Given the description of an element on the screen output the (x, y) to click on. 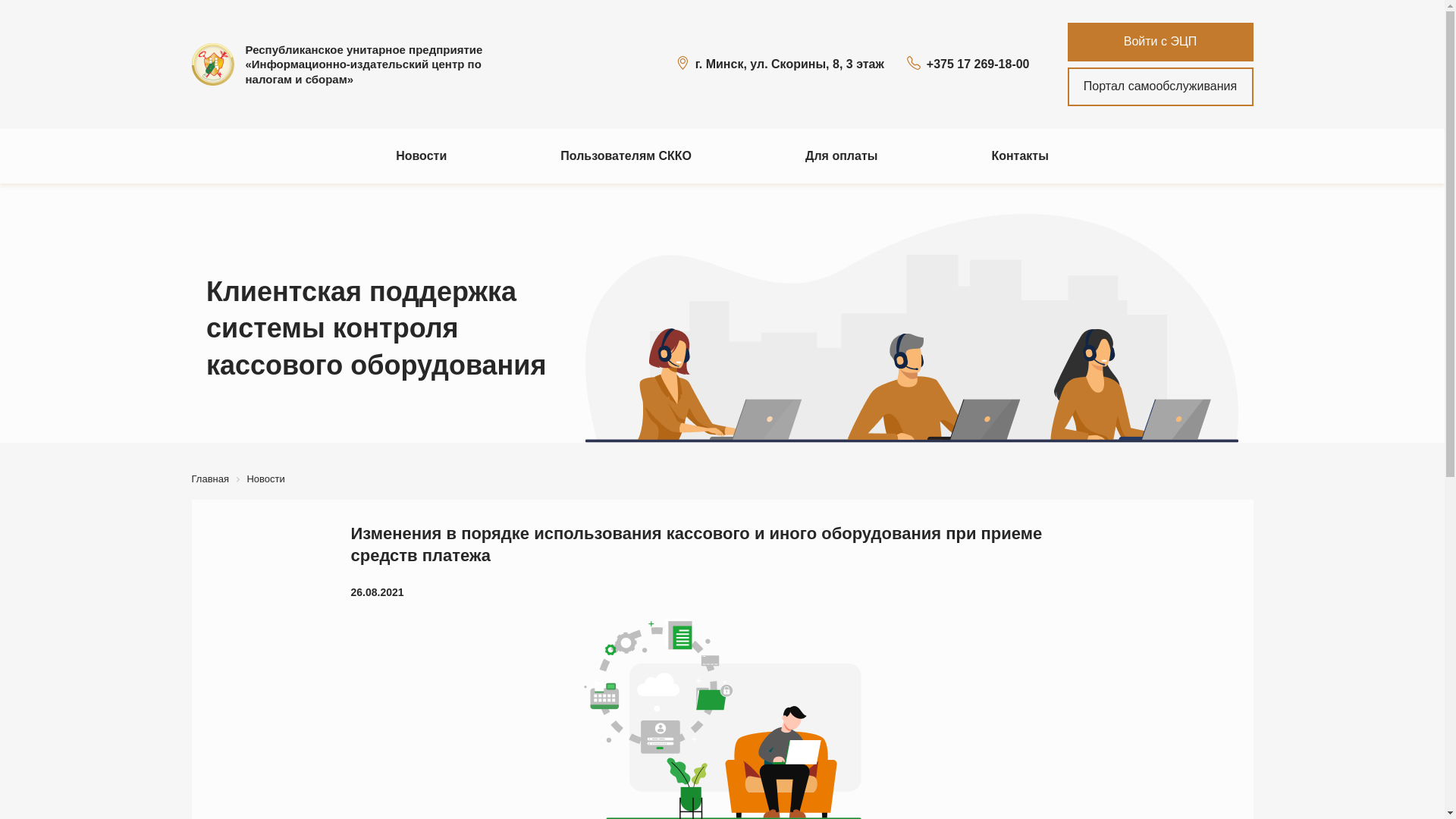
+375 17 269-18-00 Element type: text (967, 63)
